Given the description of an element on the screen output the (x, y) to click on. 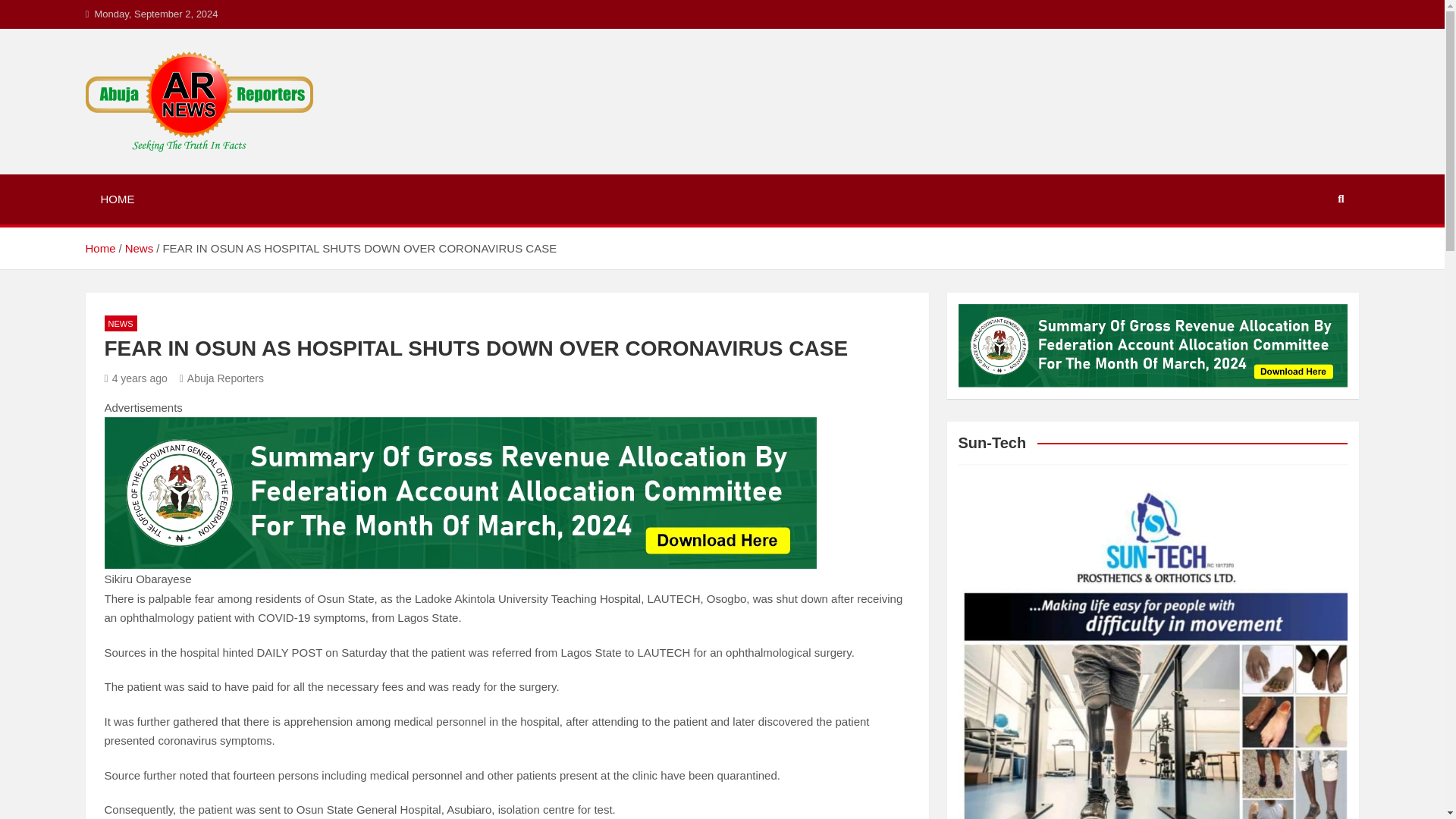
NEWS (120, 323)
Home (99, 247)
News (139, 247)
FEAR IN OSUN AS HOSPITAL SHUTS DOWN OVER CORONAVIRUS CASE (135, 378)
4 years ago (135, 378)
Abuja Reporters (221, 378)
HOME (116, 199)
Abuja Reporters (202, 171)
